Given the description of an element on the screen output the (x, y) to click on. 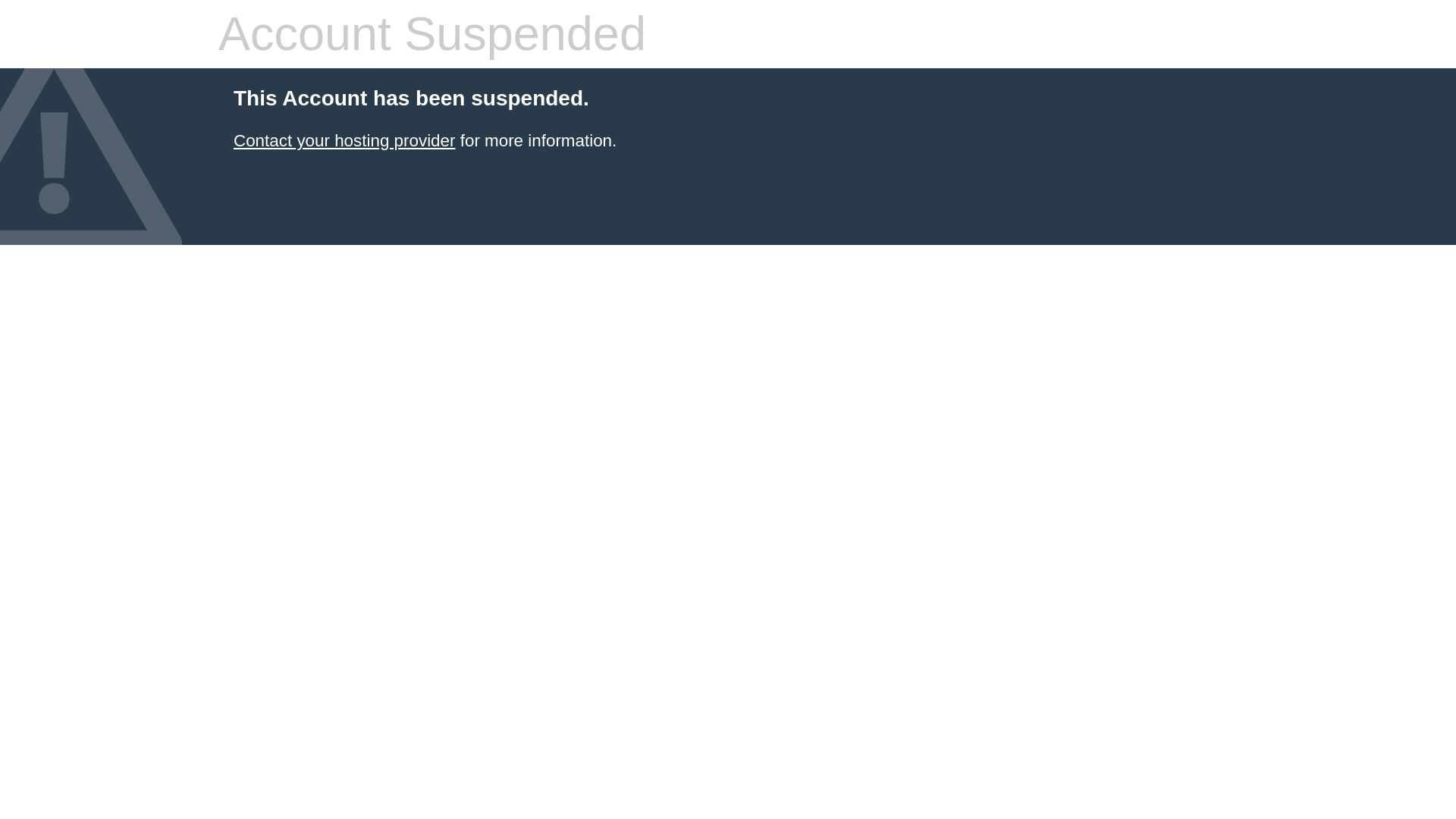
Contact your hosting provider (343, 140)
